Given the description of an element on the screen output the (x, y) to click on. 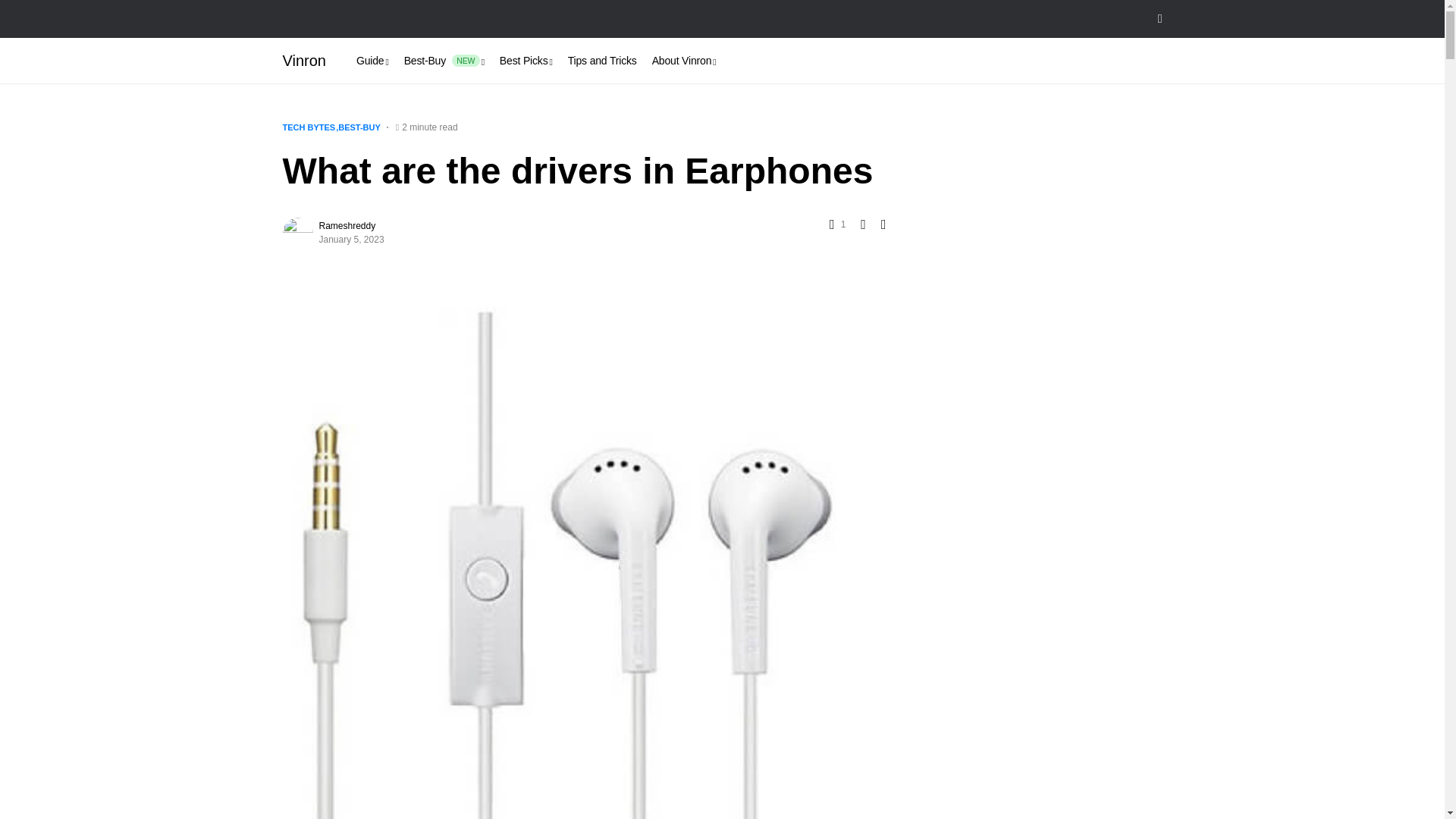
Vinron (303, 60)
